Given the description of an element on the screen output the (x, y) to click on. 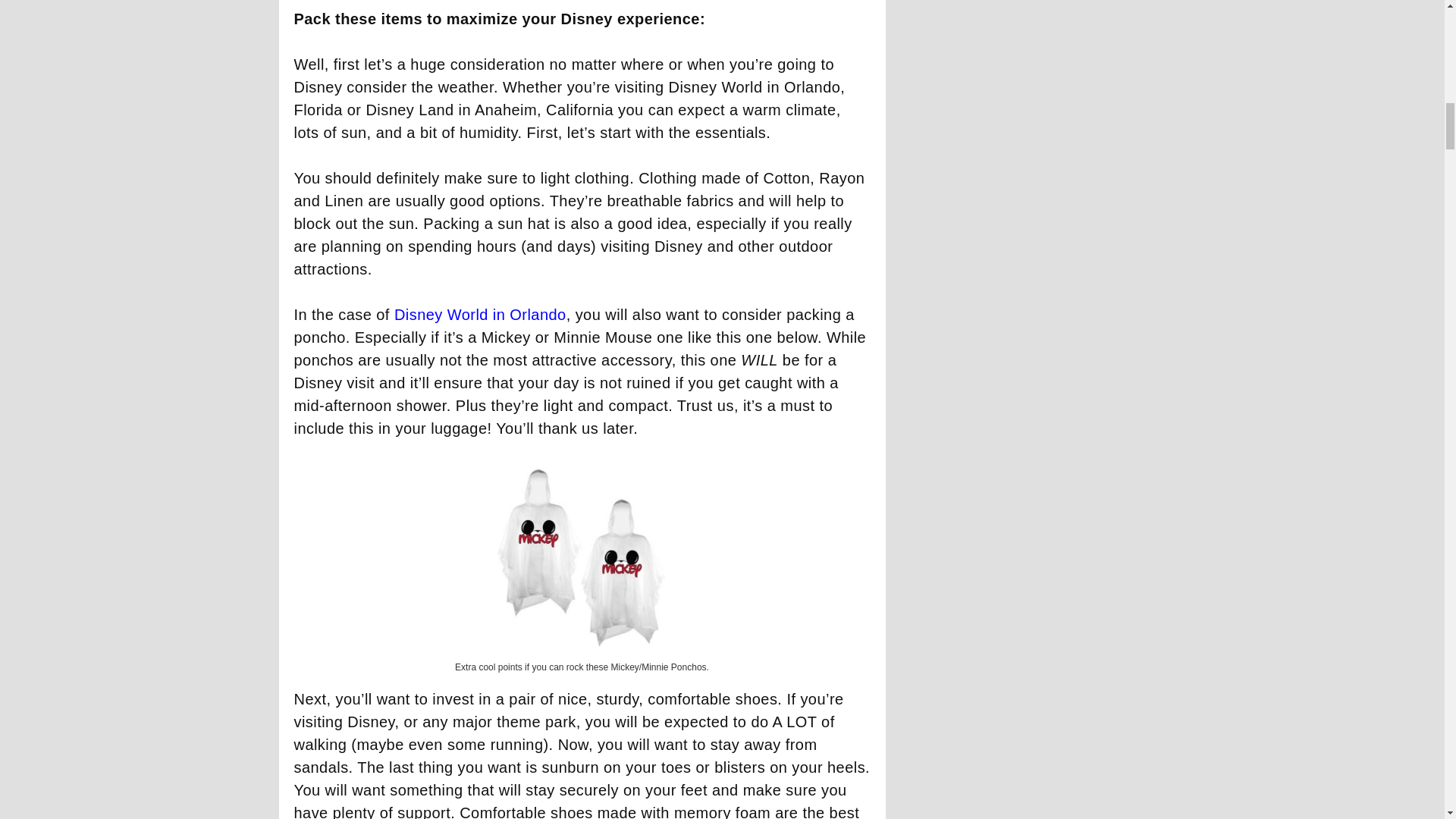
Disney World in Orlando (480, 314)
